Given the description of an element on the screen output the (x, y) to click on. 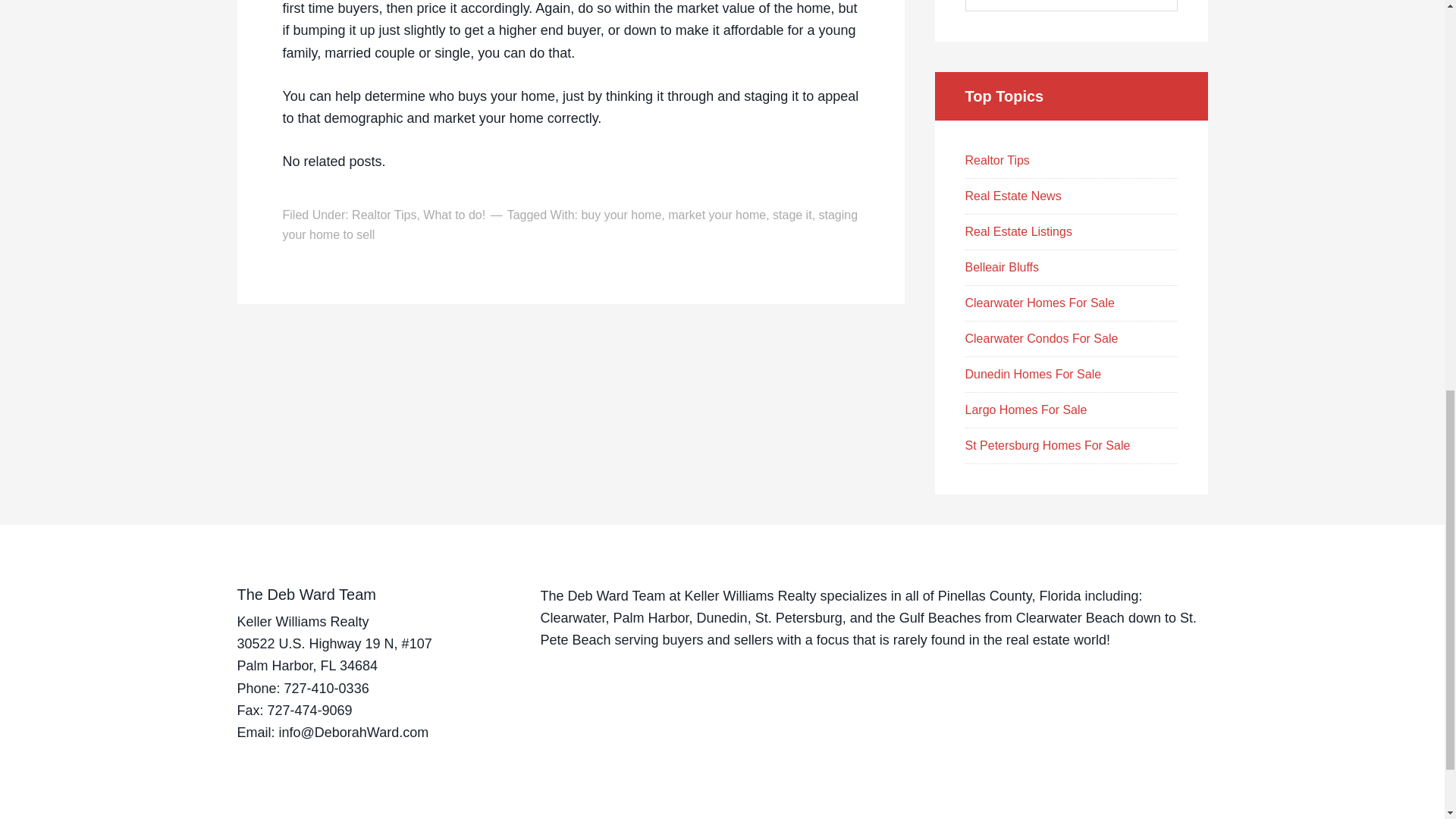
Realtor Tips (996, 160)
Real Estate Listings (1017, 231)
market your home (716, 214)
stage it (792, 214)
staging your home to sell (569, 224)
Realtor Tips (384, 214)
Real Estate News (1012, 195)
What to do! (453, 214)
buy your home (620, 214)
